Given the description of an element on the screen output the (x, y) to click on. 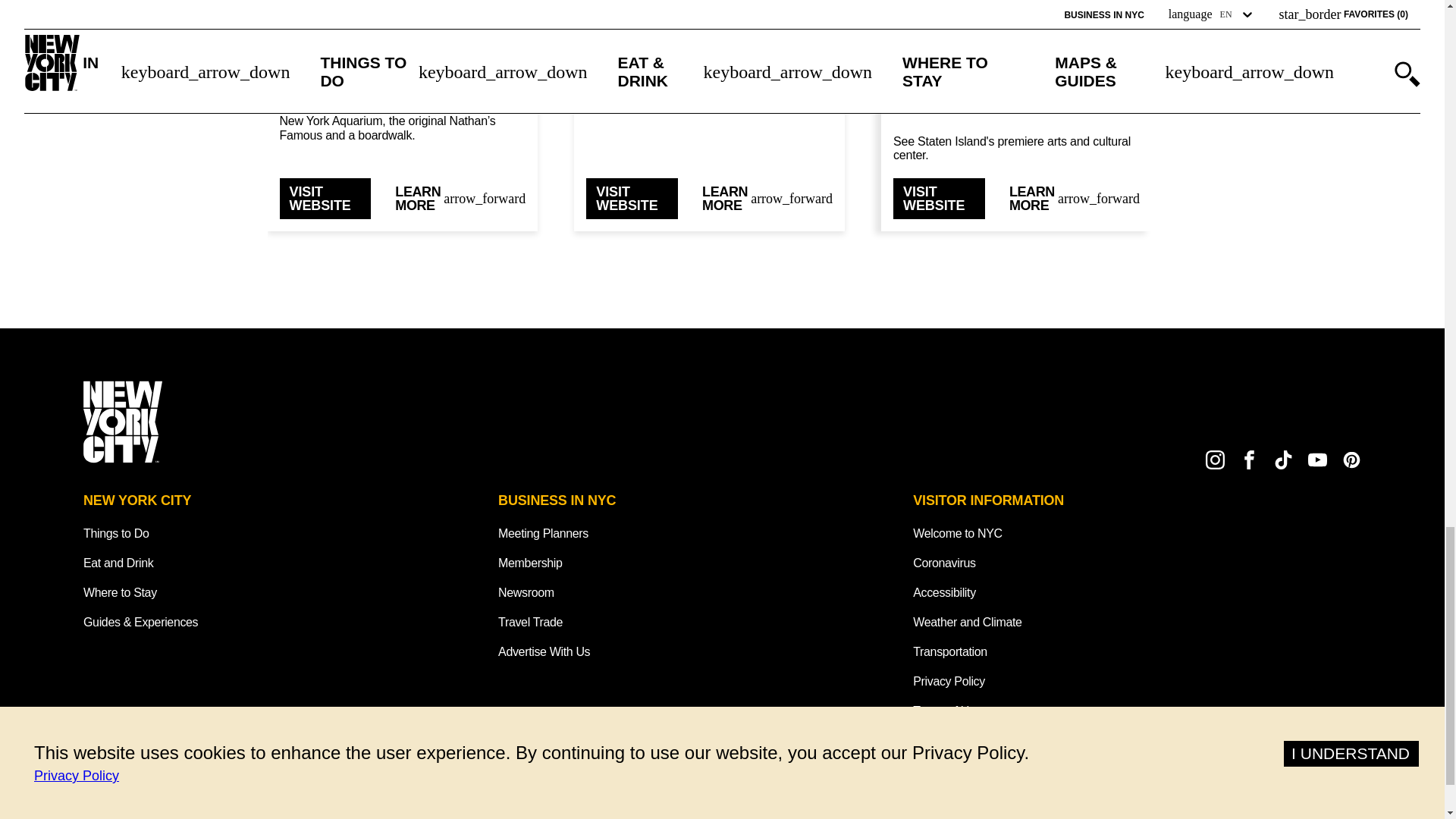
New York City Tourism and Conventions Facebook (1249, 459)
New York City Tourism and Conventions YouTube (1316, 459)
New York City Tourism and Conventions TikTok (1283, 459)
New York City Tourism and Conventions Pinterest (1351, 459)
New York City Tourism and Conventions Instagram (1214, 459)
